Given the description of an element on the screen output the (x, y) to click on. 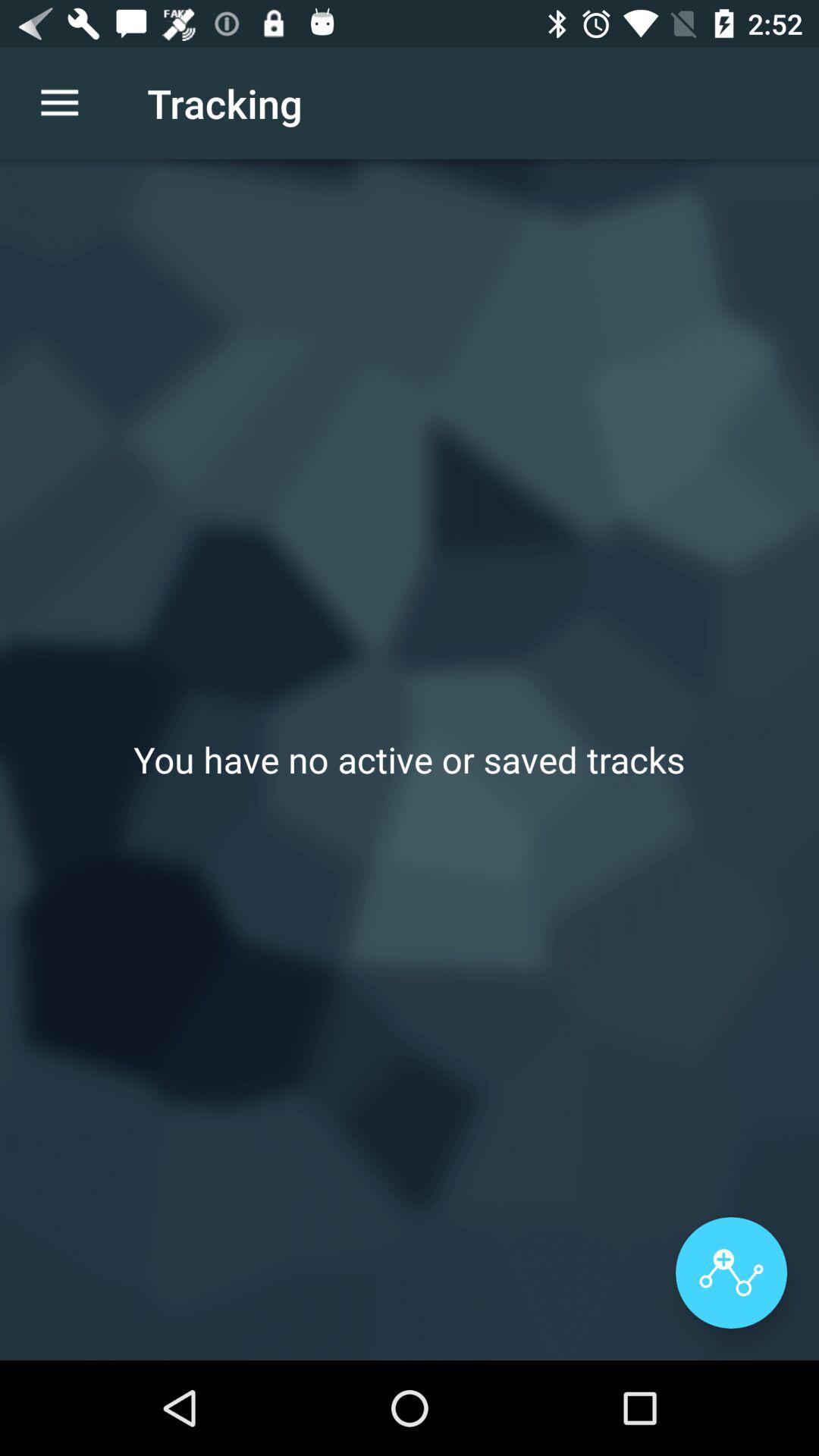
add a track (731, 1272)
